Given the description of an element on the screen output the (x, y) to click on. 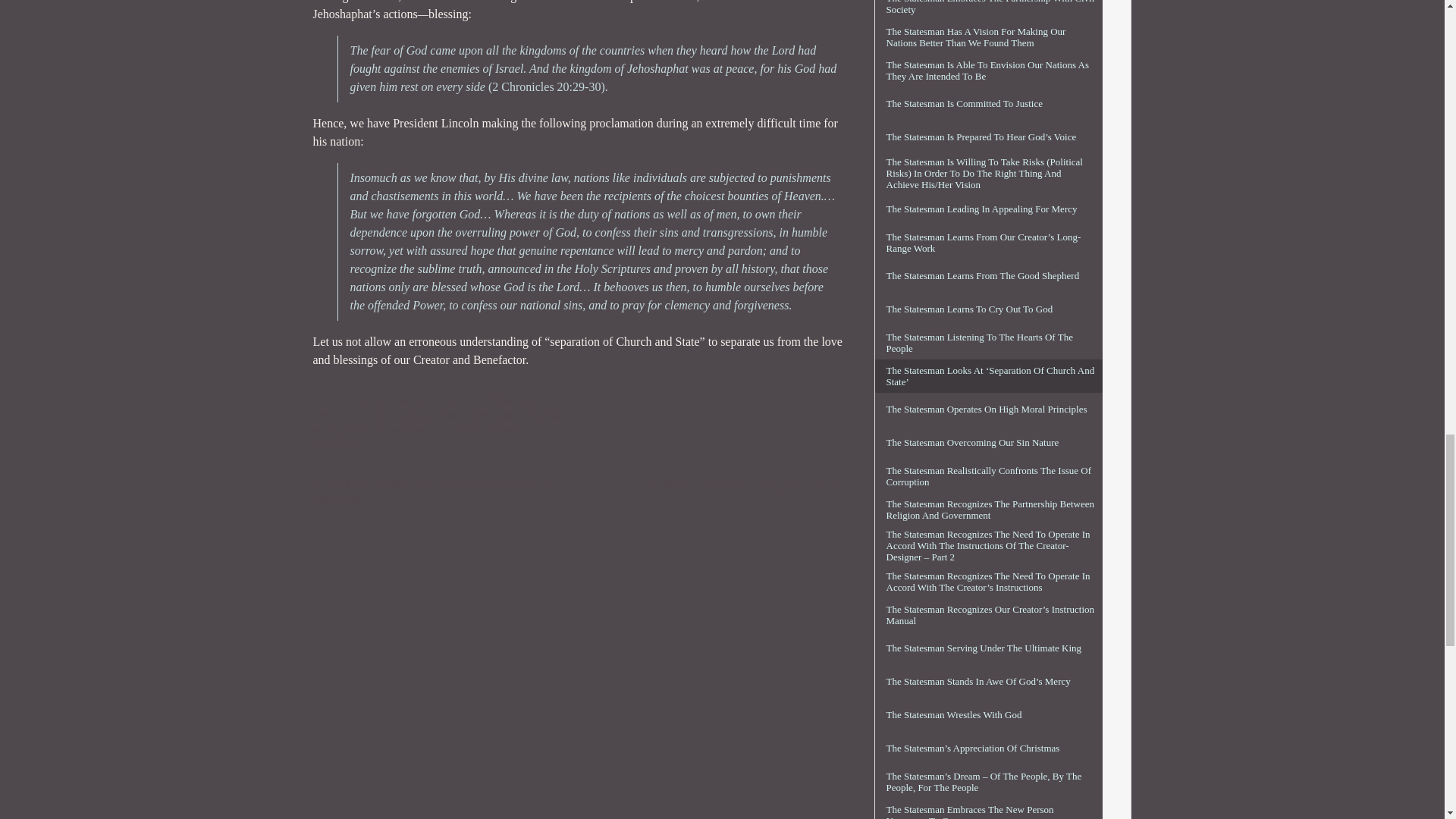
Character (513, 400)
Christian (331, 414)
Reflections on Statesmanship (395, 400)
